Given the description of an element on the screen output the (x, y) to click on. 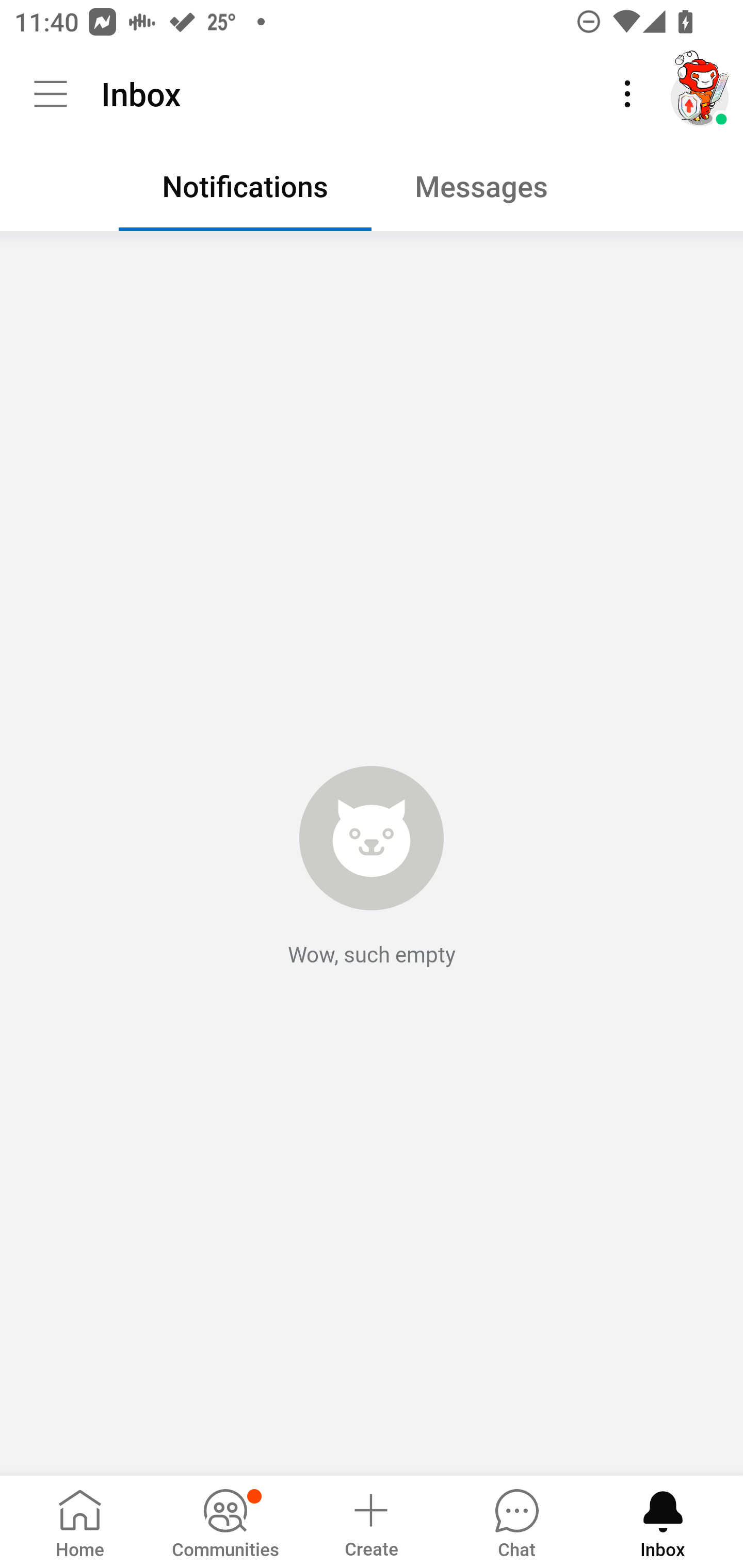
Community menu (50, 93)
More (626, 93)
TestAppium002 account (699, 93)
Messages (497, 191)
Home (80, 1520)
Communities, has notifications Communities (225, 1520)
Create a post Create (370, 1520)
Chat (516, 1520)
Inbox (662, 1520)
